Given the description of an element on the screen output the (x, y) to click on. 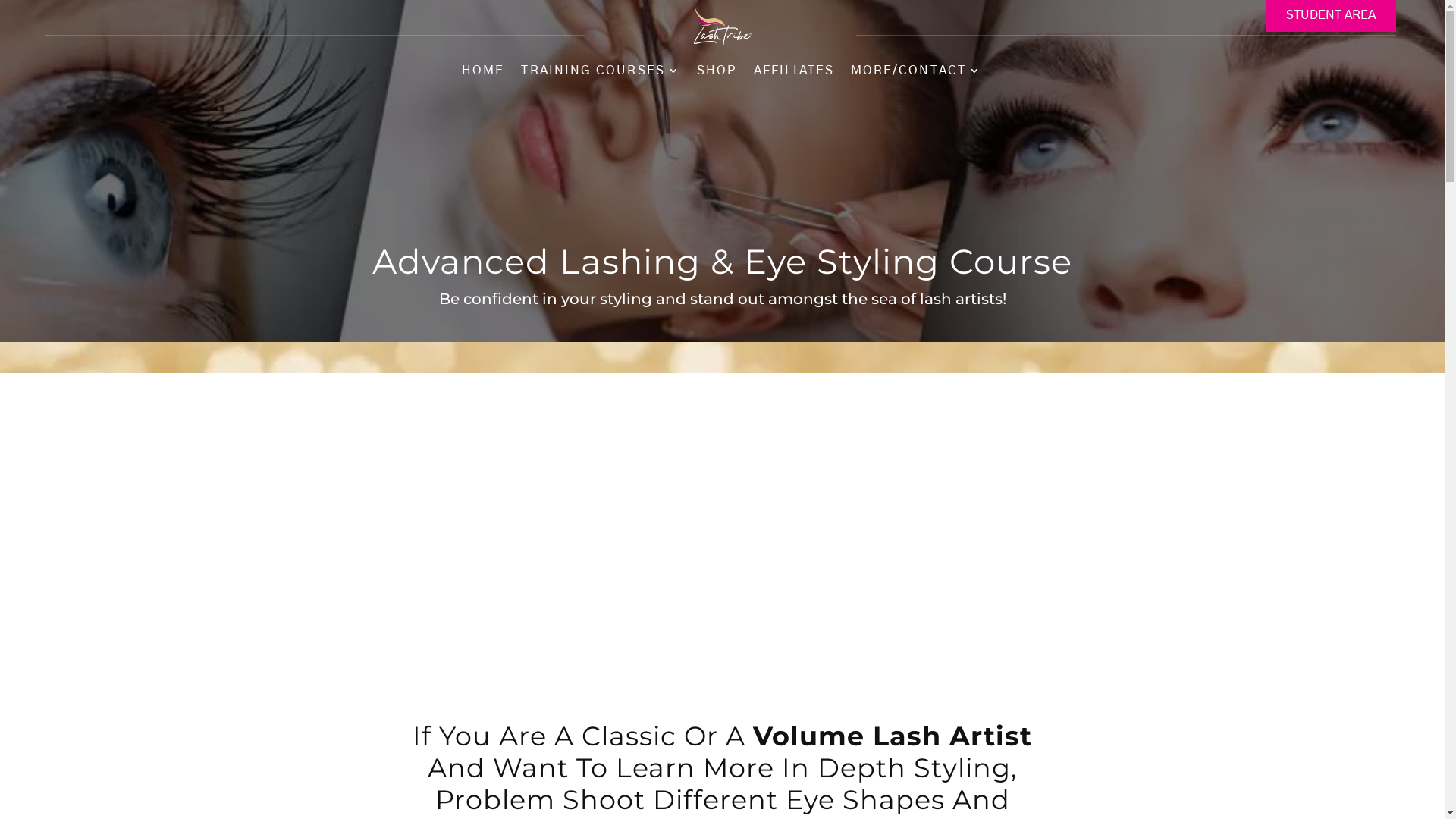
TRAINING COURSES Element type: text (599, 74)
SHOP Element type: text (716, 74)
Lash Tribe - Advance Lashing and Styling Course - FINAL HD Element type: hover (721, 552)
MORE/CONTACT Element type: text (915, 74)
HOME Element type: text (482, 74)
AFFILIATES Element type: text (793, 74)
